Given the description of an element on the screen output the (x, y) to click on. 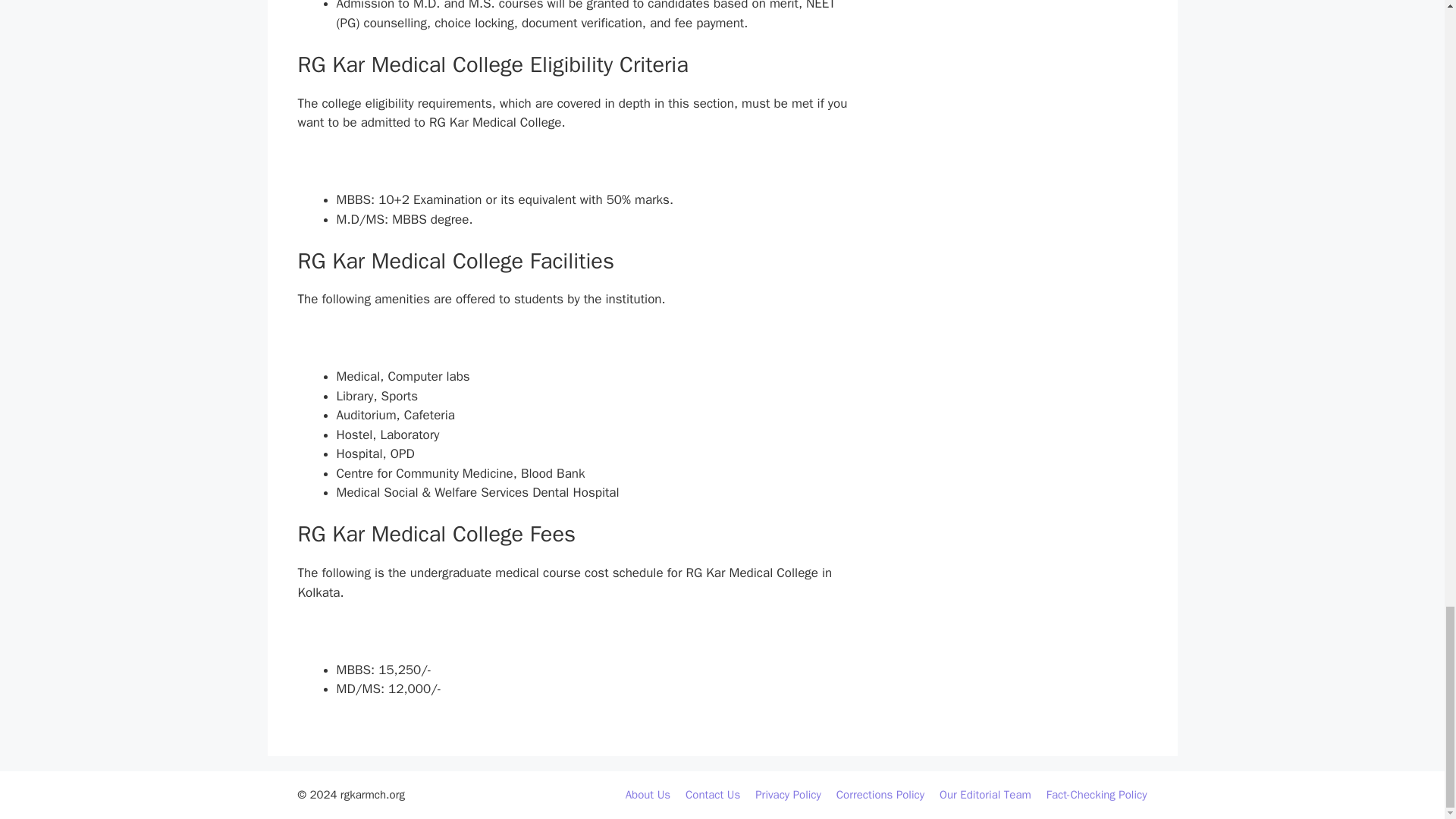
Fact-Checking Policy (1096, 794)
About Us (647, 794)
Contact Us (712, 794)
Privacy Policy (788, 794)
Our Editorial Team (984, 794)
Corrections Policy (879, 794)
